Given the description of an element on the screen output the (x, y) to click on. 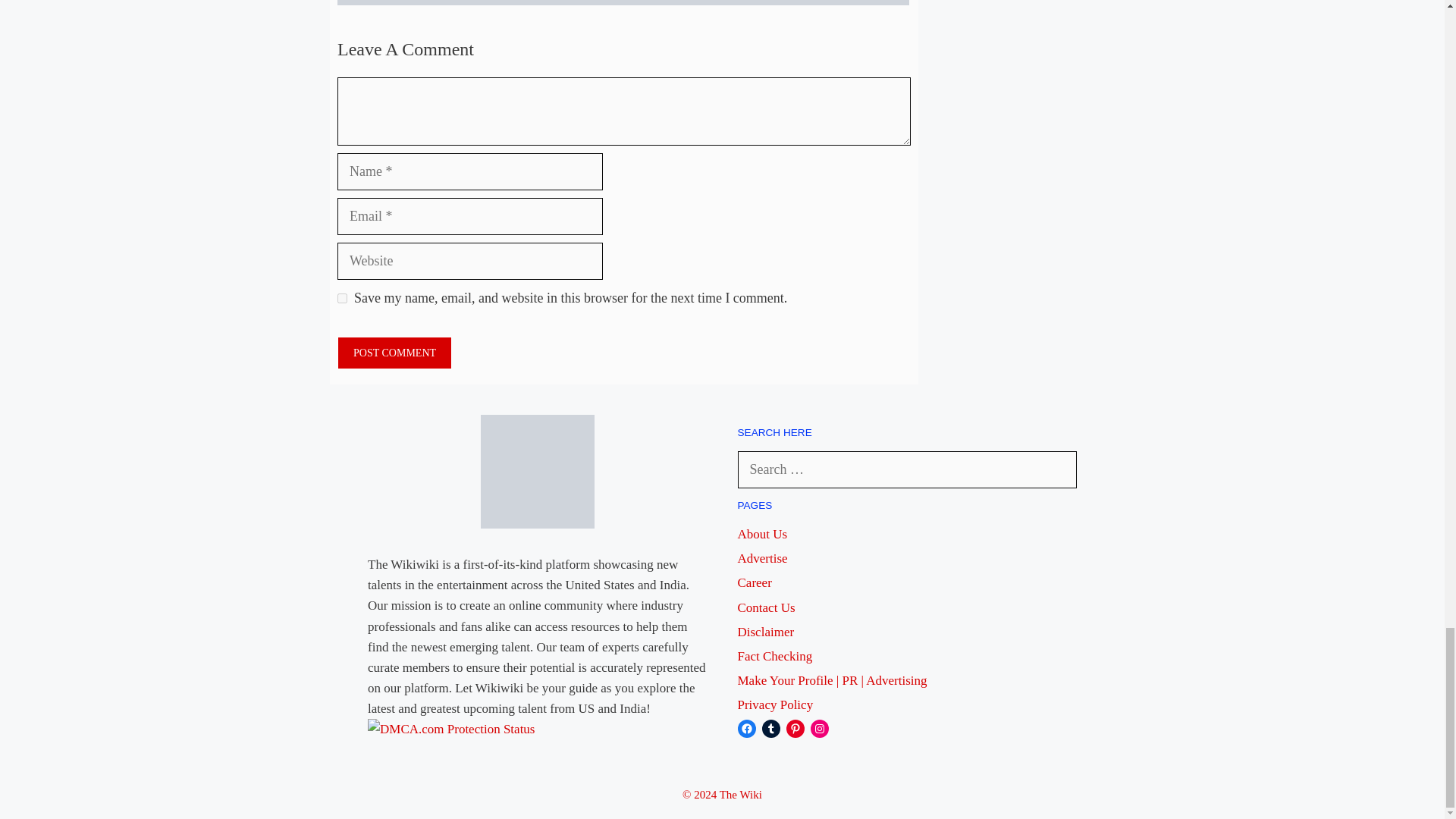
Post Comment (394, 352)
Search for: (906, 469)
yes (342, 298)
Post Comment (394, 352)
DMCA.com Protection Status (451, 728)
